Given the description of an element on the screen output the (x, y) to click on. 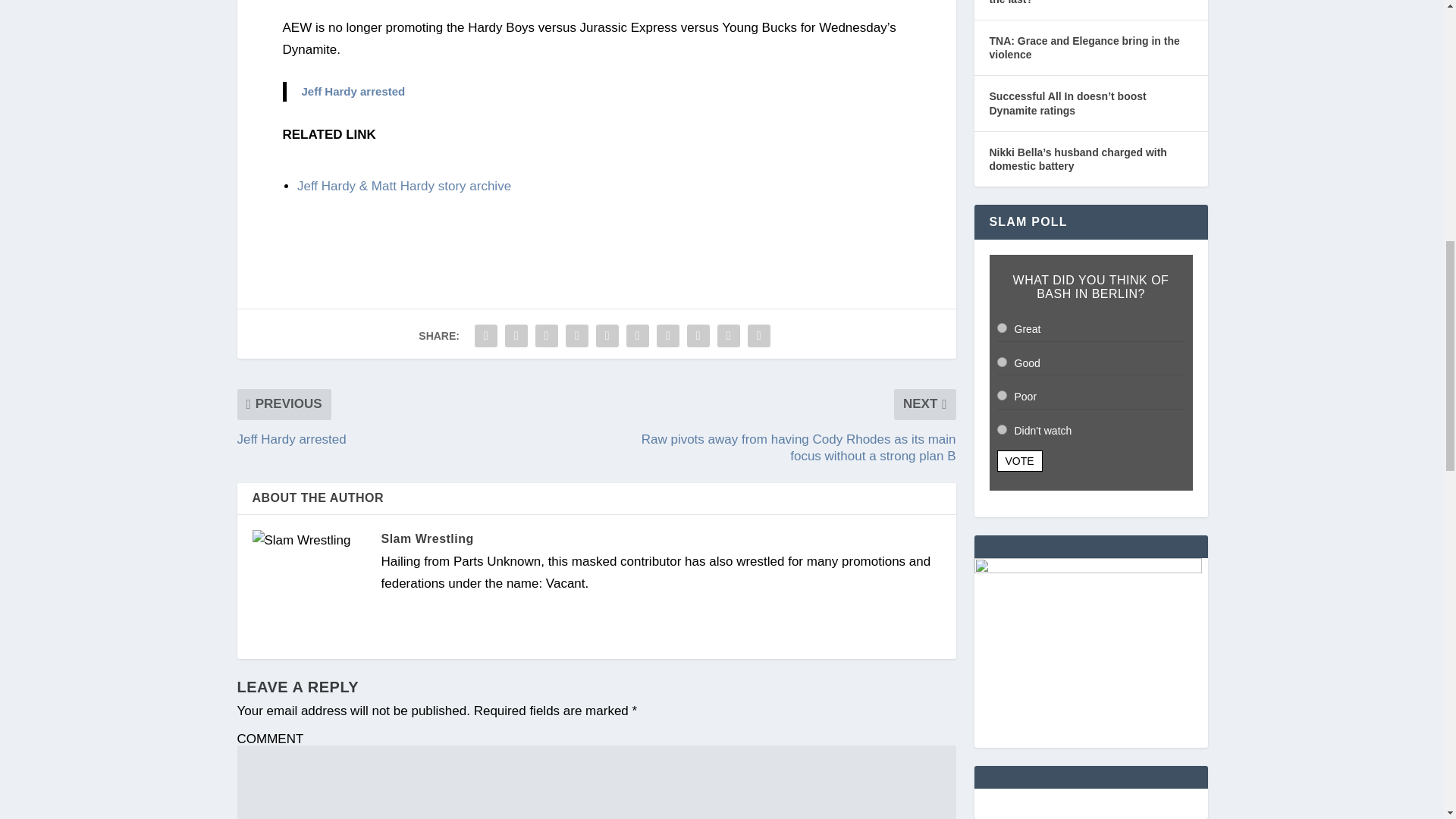
Share "More details in Jeff Hardy arrest" via Pinterest (607, 336)
View all posts by Slam Wrestling (426, 538)
Jeff Hardy arrested (353, 91)
6513 (1000, 429)
Share "More details in Jeff Hardy arrest" via LinkedIn (637, 336)
Share "More details in Jeff Hardy arrest" via Stumbleupon (697, 336)
Share "More details in Jeff Hardy arrest" via Twitter (515, 336)
Share "More details in Jeff Hardy arrest" via Tumblr (577, 336)
Share "More details in Jeff Hardy arrest" via Buffer (667, 336)
Share "More details in Jeff Hardy arrest" via Facebook (485, 336)
